Given the description of an element on the screen output the (x, y) to click on. 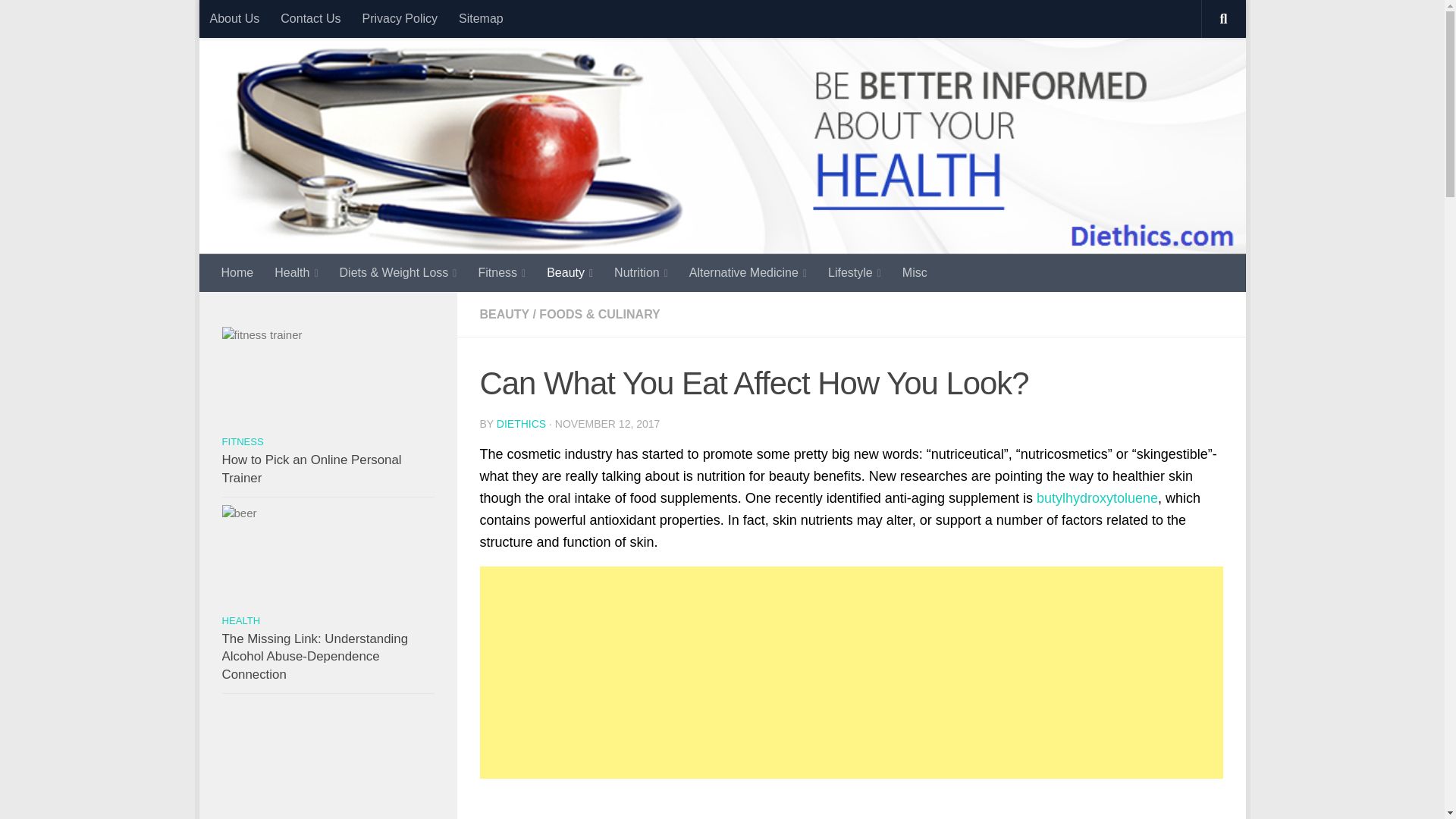
Skip to content (263, 20)
